Given the description of an element on the screen output the (x, y) to click on. 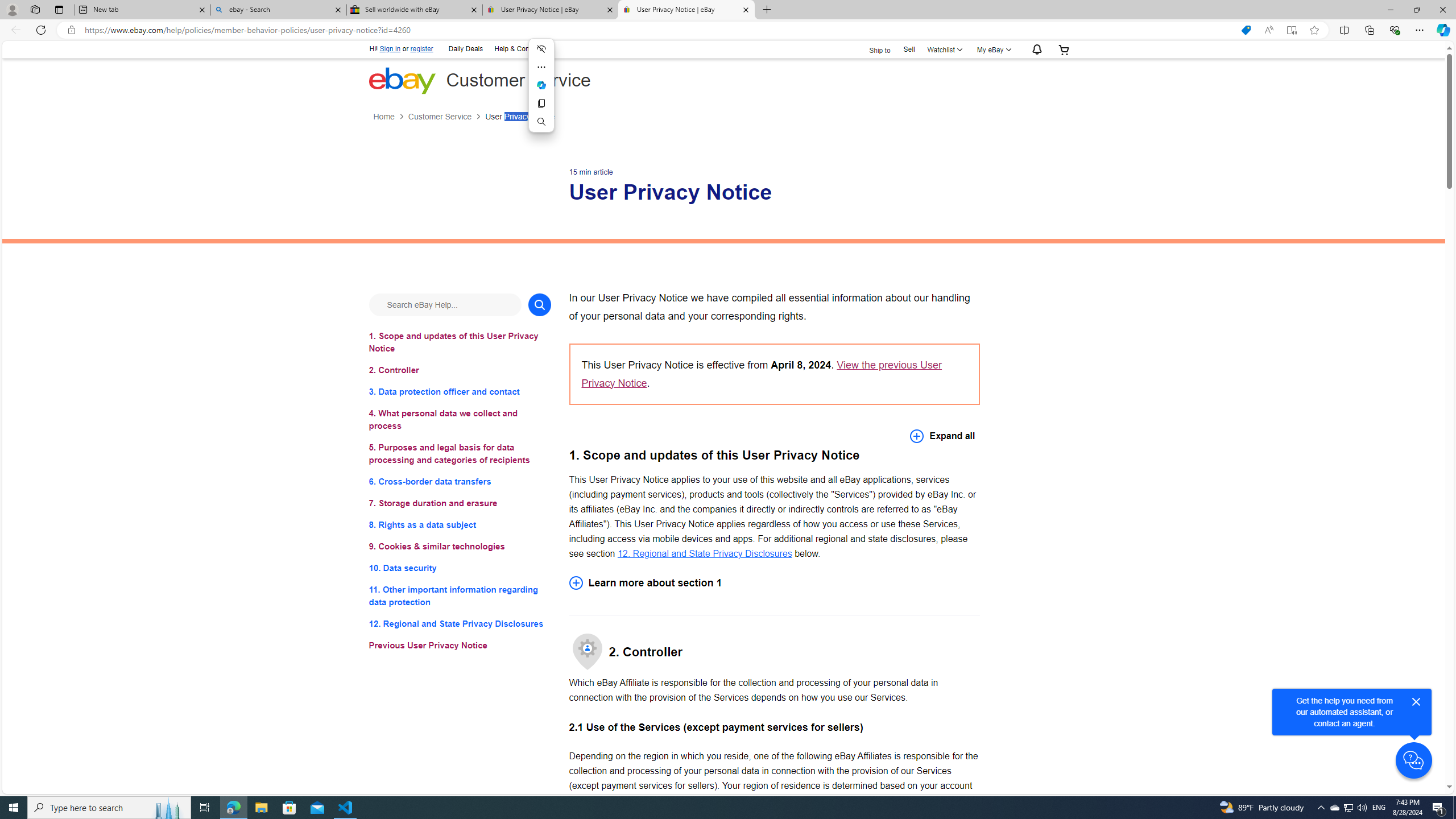
View the previous User Privacy Notice (761, 373)
1. Scope and updates of this User Privacy Notice (459, 341)
11. Other important information regarding data protection (459, 596)
Home (389, 117)
My eBayExpand My eBay (992, 49)
Help & Contact (516, 49)
12. Regional and State Privacy Disclosures (459, 623)
eBay Home (401, 80)
8. Rights as a data subject (459, 524)
2. Controller (459, 369)
11. Other important information regarding data protection (459, 596)
